Given the description of an element on the screen output the (x, y) to click on. 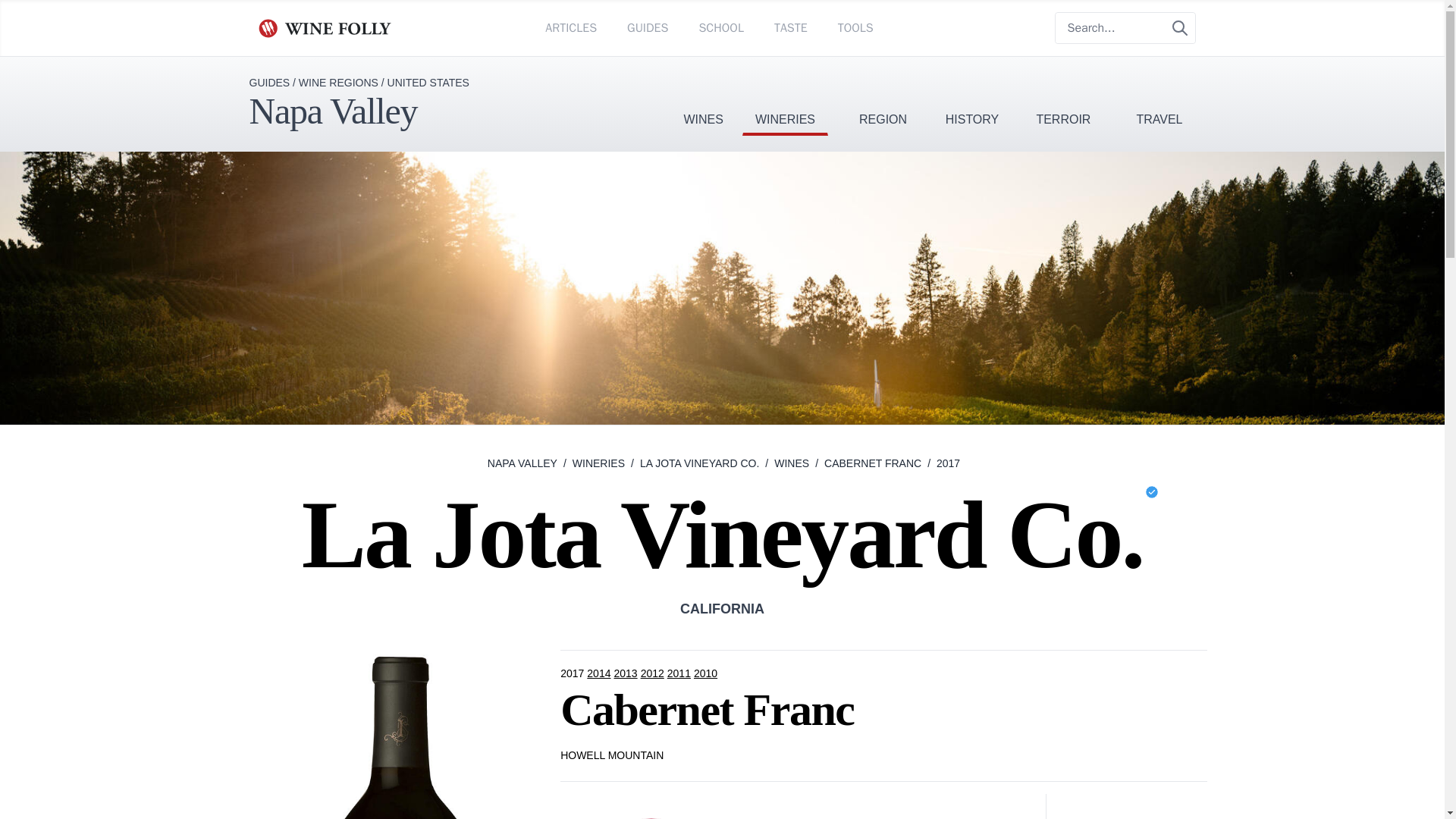
Napa Valley (332, 110)
WINERIES (785, 95)
TRAVEL (1158, 95)
2013 (626, 672)
WINE REGIONS (338, 82)
2012 (653, 672)
SCHOOL (720, 27)
2010 (707, 672)
Verified Organization (1151, 491)
TERROIR (1063, 95)
2017 (573, 672)
2014 (599, 672)
NAPA VALLEY (522, 462)
ARTICLES (570, 27)
TOOLS (855, 27)
